Given the description of an element on the screen output the (x, y) to click on. 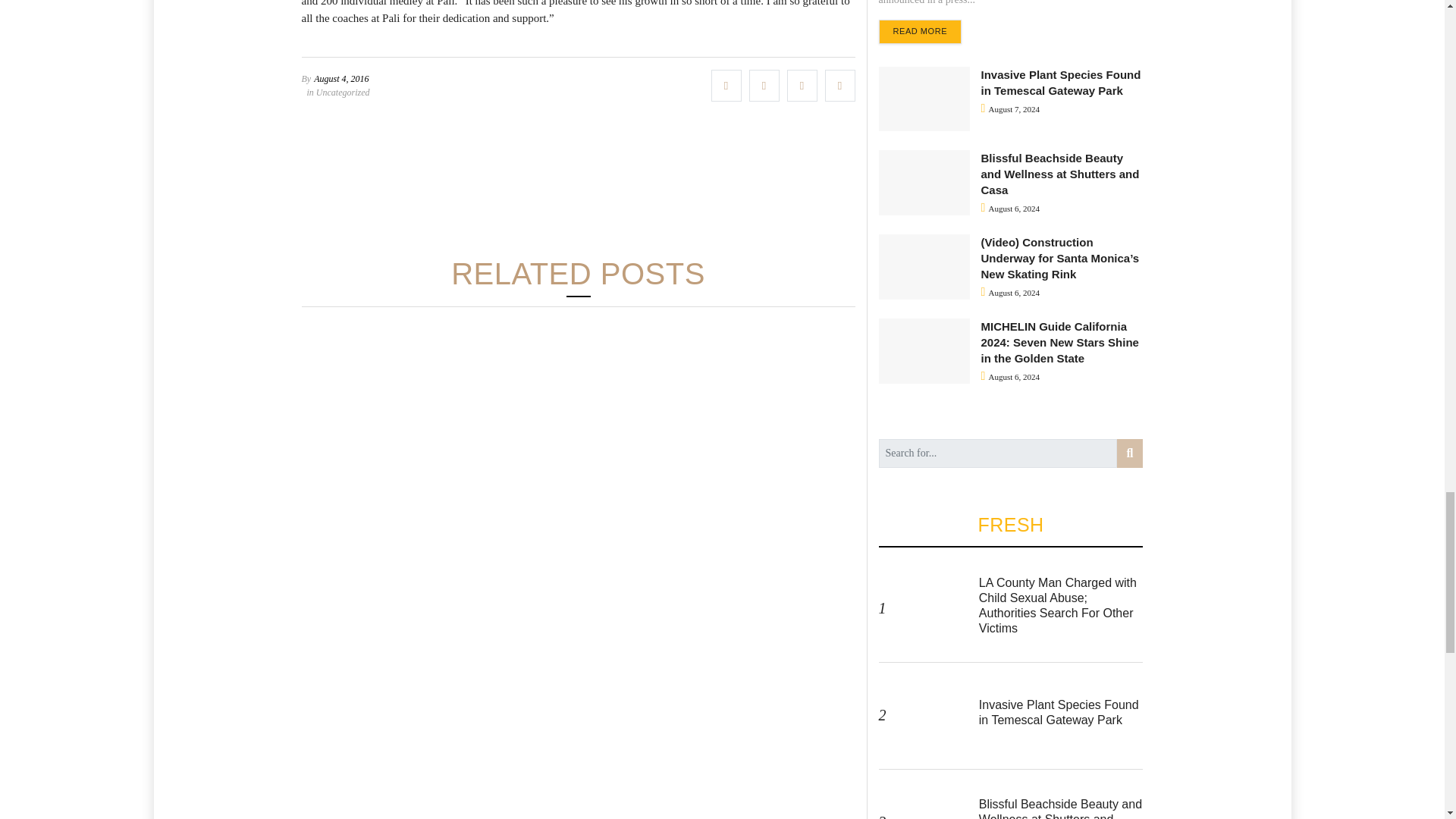
Blissful Beachside Beauty and Wellness at Shutters and Casa (1059, 808)
Page 18 (578, 13)
Page 18 (578, 13)
3rd party ad content (577, 183)
Blissful Beachside Beauty and Wellness at Shutters and Casa (933, 800)
Page 18 (578, 13)
Invasive Plant Species Found in Temescal Gateway Park (1058, 712)
Page 18 (578, 13)
READ MORE (918, 31)
